Given the description of an element on the screen output the (x, y) to click on. 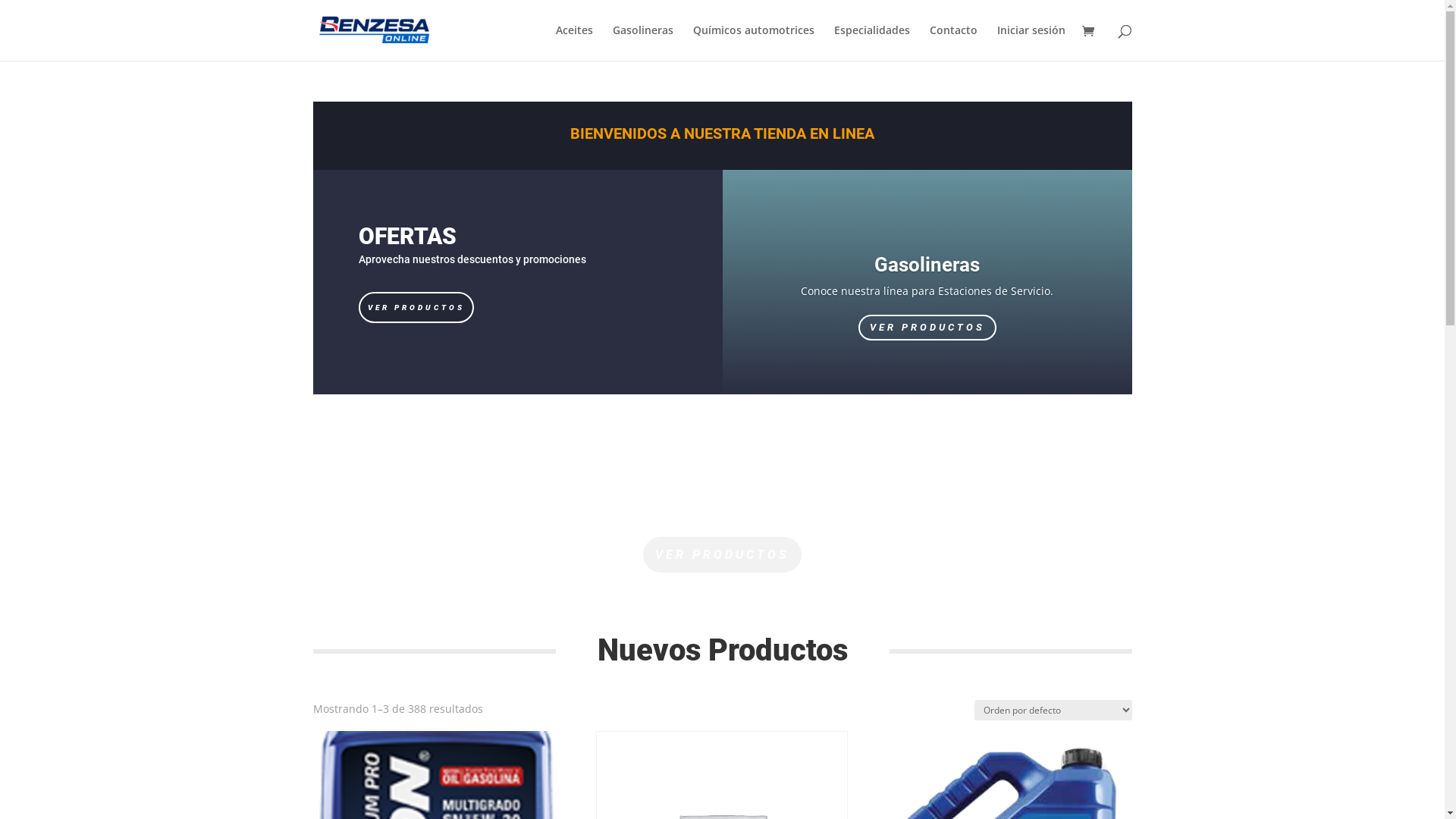
Aceites Element type: text (573, 42)
VER PRODUCTOS Element type: text (722, 554)
Gasolineras Element type: text (642, 42)
Especialidades Element type: text (872, 42)
Gasolineras Element type: text (926, 264)
VER PRODUCTOS Element type: text (927, 327)
VER PRODUCTOS Element type: text (415, 307)
Contacto Element type: text (953, 42)
